Given the description of an element on the screen output the (x, y) to click on. 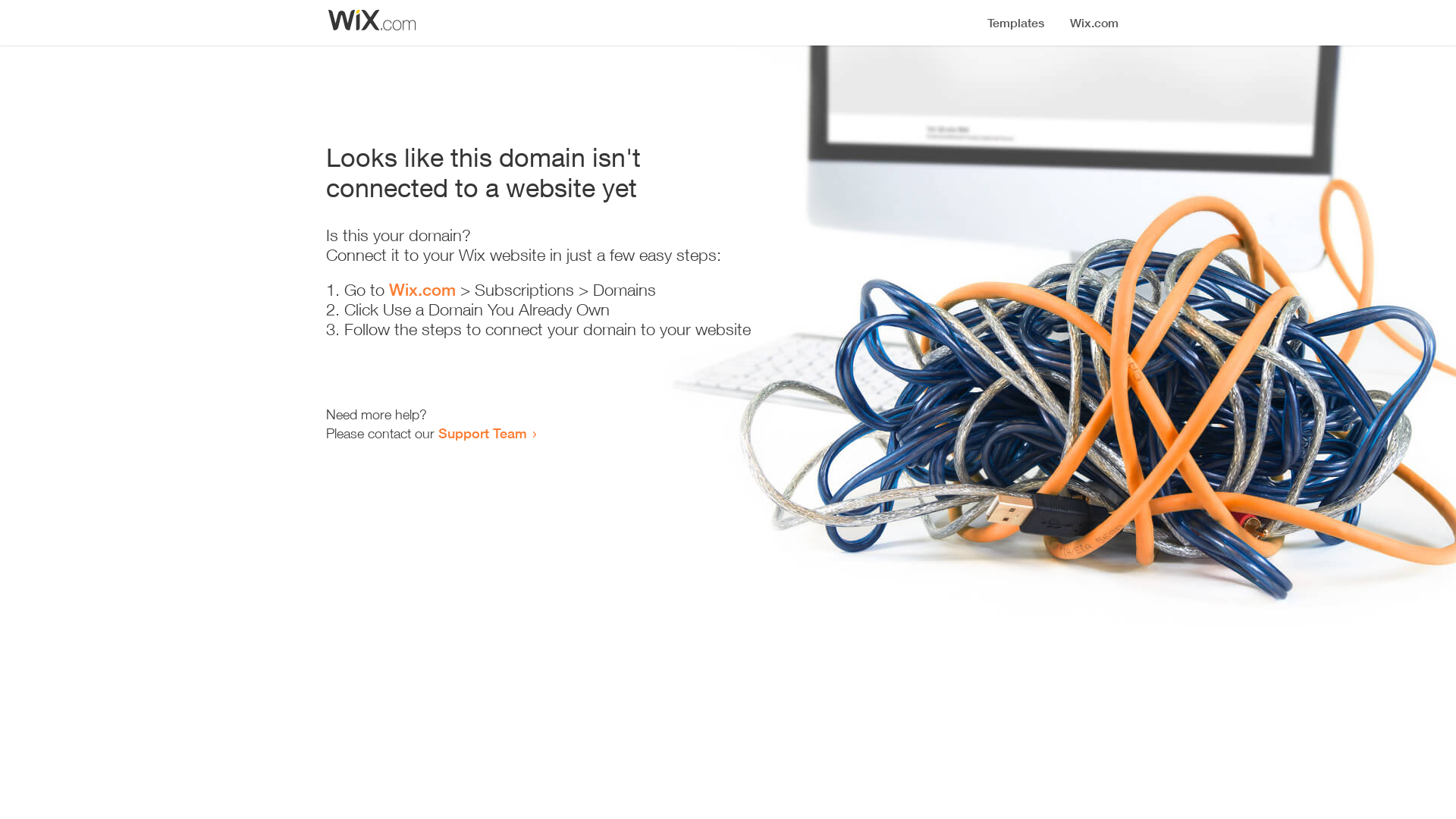
Wix.com Element type: text (422, 289)
Support Team Element type: text (482, 432)
